Given the description of an element on the screen output the (x, y) to click on. 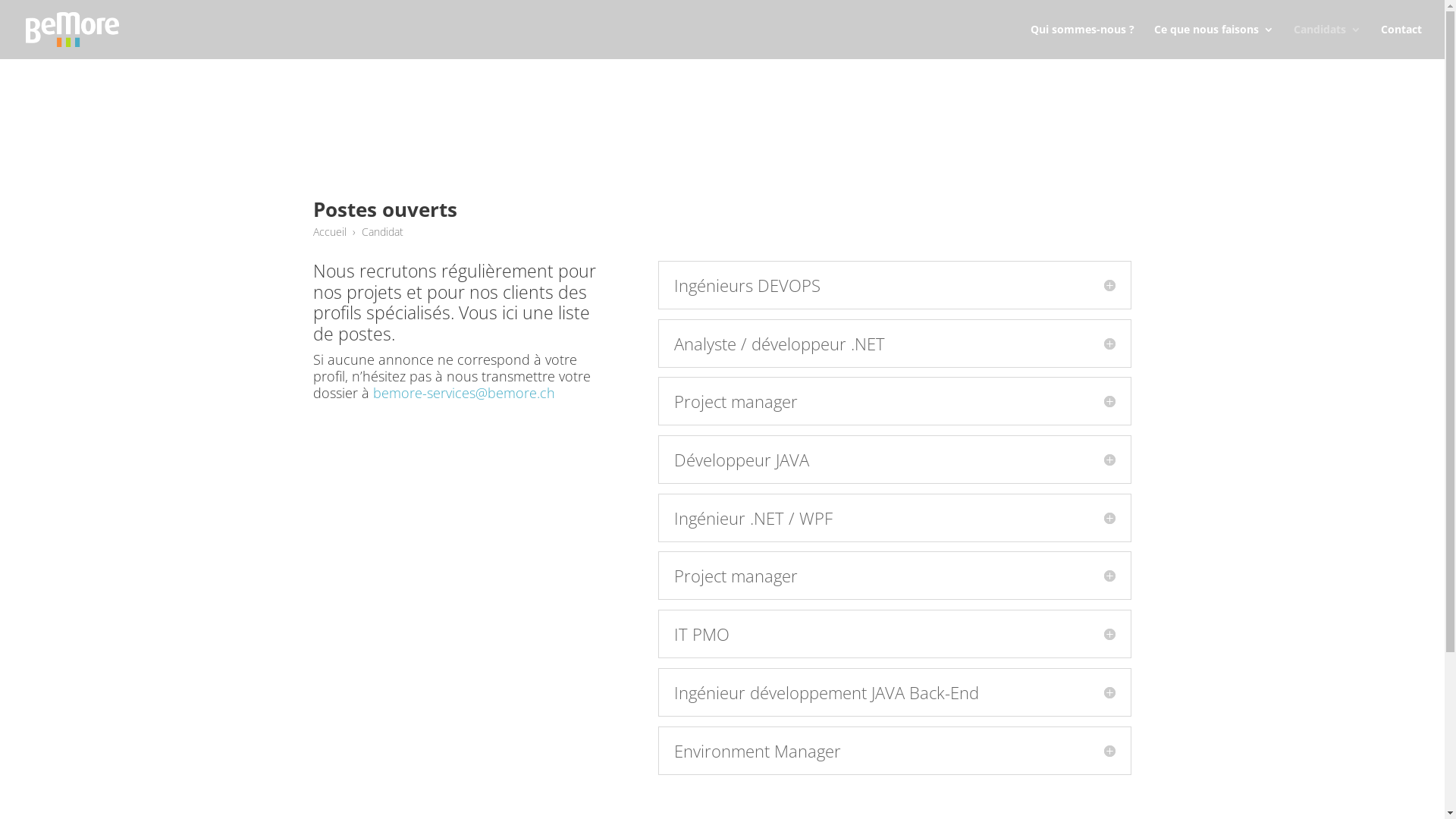
Contact Element type: text (1400, 41)
Qui sommes-nous ? Element type: text (1082, 41)
bemore-services@bemore.ch Element type: text (464, 392)
Ce que nous faisons Element type: text (1214, 41)
Candidats Element type: text (1327, 41)
Candidat Element type: text (381, 231)
Accueil Element type: text (328, 231)
